Given the description of an element on the screen output the (x, y) to click on. 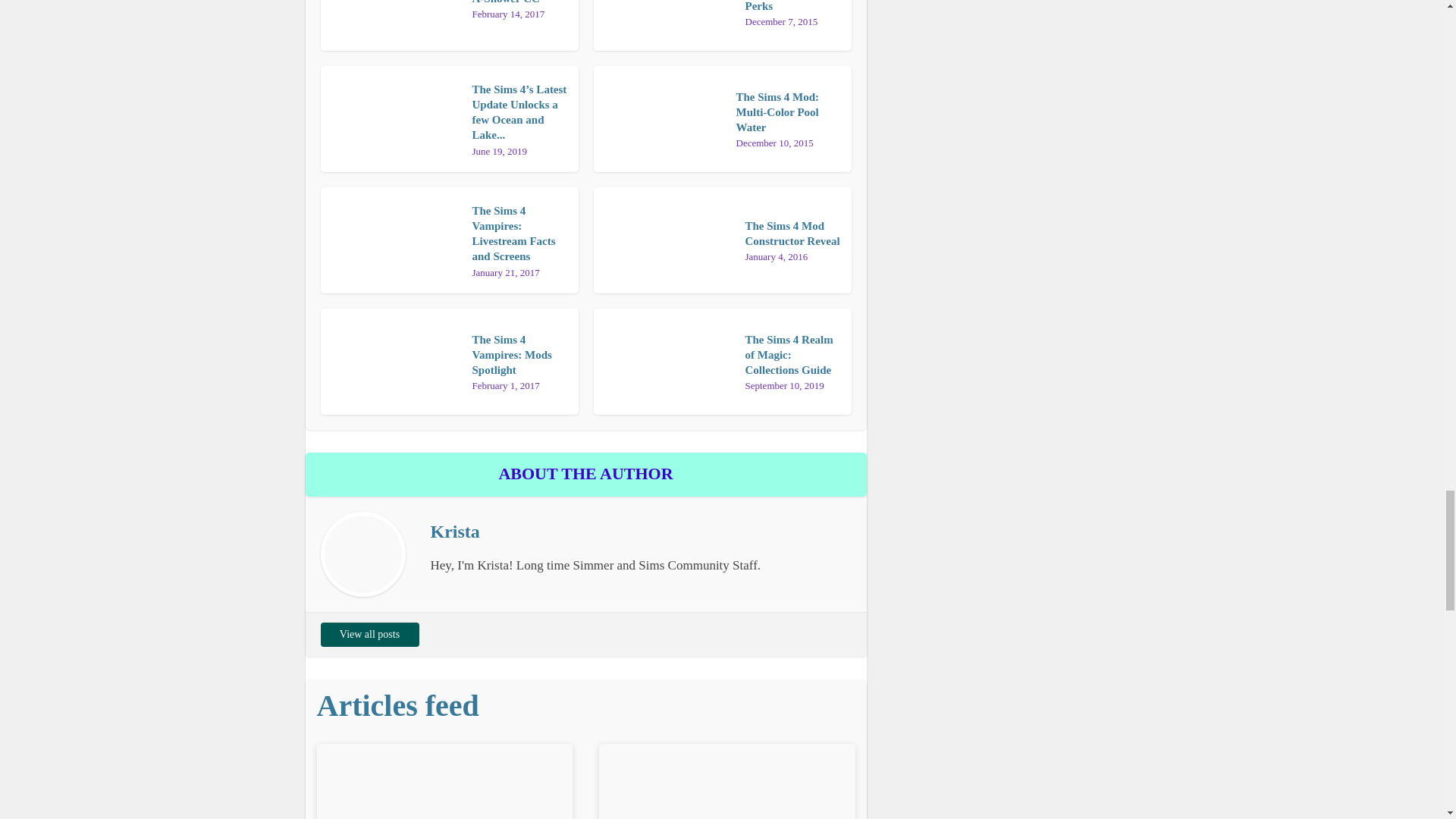
The Sims 4 Mod: Multi-Color Pool Water (776, 112)
The Sims 4 Get Together: Club Perks (781, 6)
The Sims 4 Get Together: Club Perks 6 (662, 18)
The Sims 4 Vampires: Livestream Facts and Screens (512, 233)
The Sims 4 Vampires: Livestream Facts and Screens 9 (389, 240)
The Sims 4: Build-A-Shower CC (516, 2)
The Sims 4 Mod: Multi-Color Pool Water 8 (658, 119)
The Sims 4: Build-A-Shower CC 5 (389, 18)
